Given the description of an element on the screen output the (x, y) to click on. 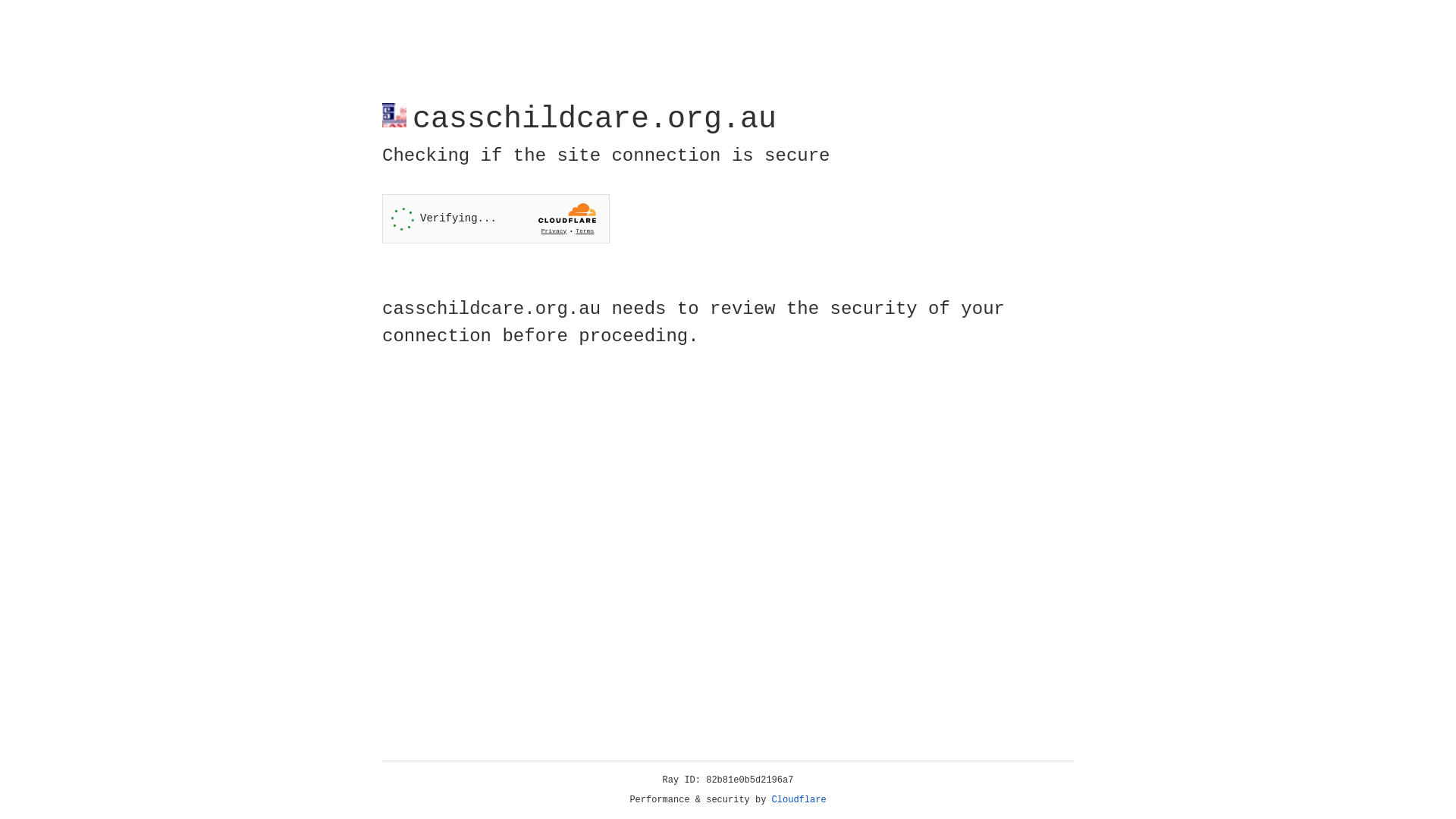
Widget containing a Cloudflare security challenge Element type: hover (495, 218)
Cloudflare Element type: text (798, 799)
